Given the description of an element on the screen output the (x, y) to click on. 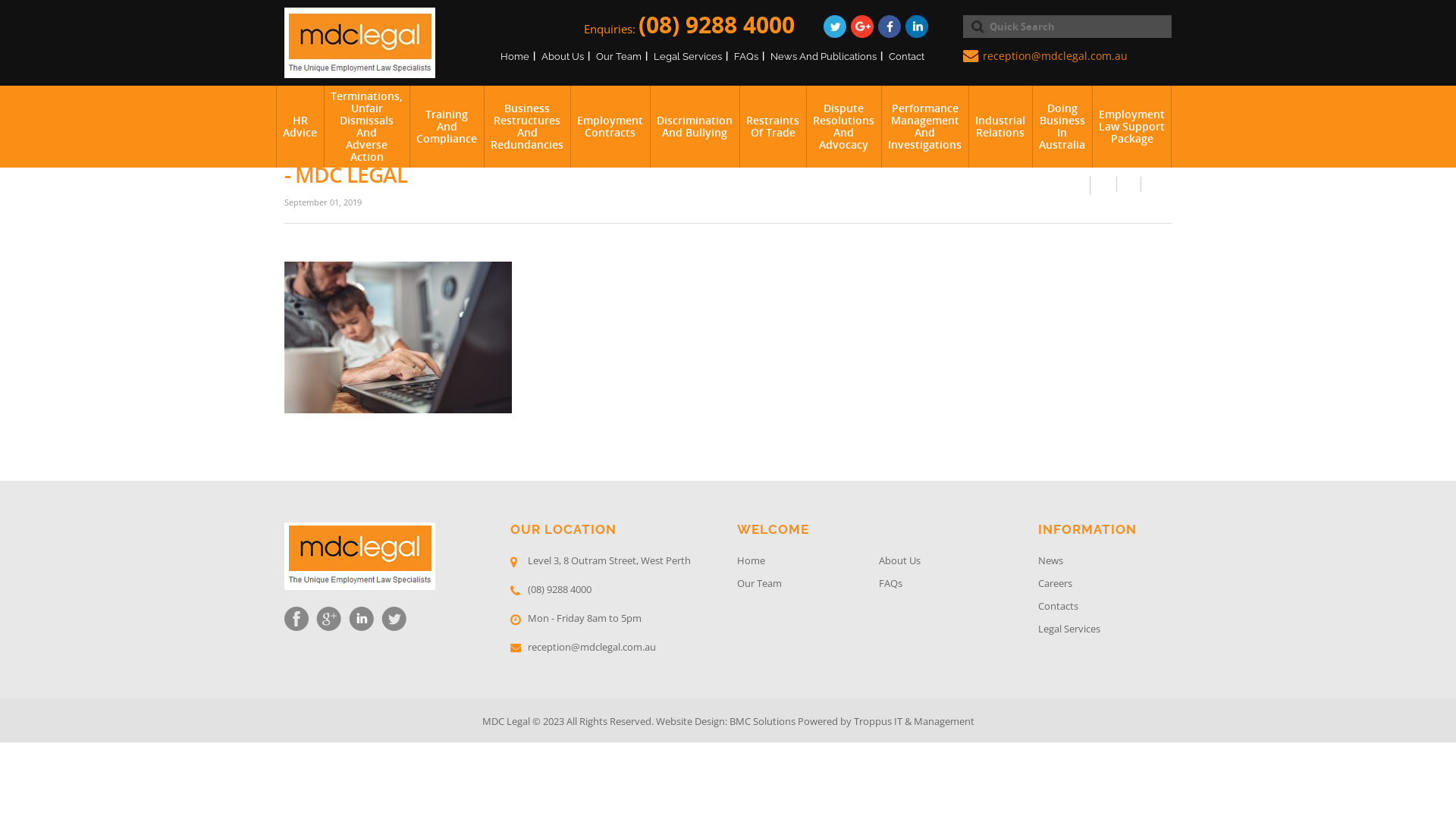
Share this Element type: hover (1103, 183)
Our Team Element type: text (618, 56)
Careers Element type: text (1104, 585)
Legal Services Element type: text (1104, 630)
Tweet this Element type: hover (1129, 183)
Love this Element type: hover (1078, 183)
Our Team Element type: text (807, 585)
Dispute Resolutions
And Advocacy Element type: text (843, 126)
Search Element type: text (974, 26)
BMC Solutions Element type: text (762, 721)
Home Element type: text (514, 56)
Restraints
Of Trade Element type: text (772, 126)
Employment
Contracts Element type: text (609, 126)
Contact Element type: text (906, 56)
About Us Element type: text (949, 562)
Home Element type: text (807, 562)
FAQs Element type: text (746, 56)
Training And
Compliance Element type: text (446, 126)
HR
Advice Element type: text (299, 126)
Doing Business
In Australia Element type: text (1062, 126)
FAQs Element type: text (949, 585)
News Element type: text (1104, 562)
Industrial
Relations Element type: text (1000, 126)
Discrimination
And Bullying Element type: text (694, 126)
Business Restructures
And Redundancies Element type: text (526, 126)
News And Publications Element type: text (823, 56)
Troppus IT & Management Element type: text (913, 721)
Performance
Management
And Investigations Element type: text (924, 126)
About Us Element type: text (562, 56)
Contacts Element type: text (1104, 607)
Legal Services Element type: text (687, 56)
Terminations,
Unfair Dismissals And
Adverse Action Element type: text (366, 126)
Employment
Law Support
Package Element type: text (1131, 126)
